Given the description of an element on the screen output the (x, y) to click on. 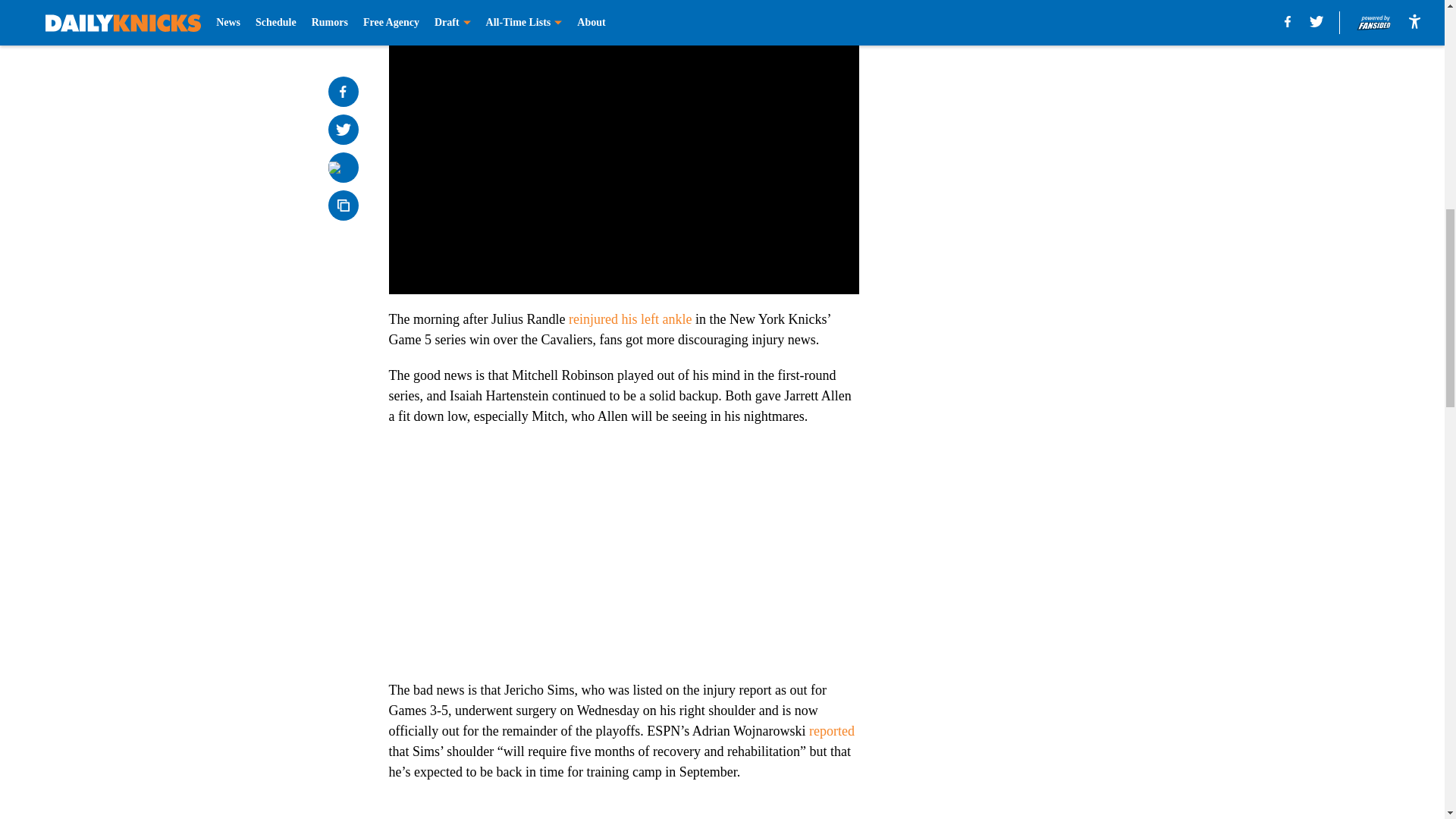
3rd party ad content (1047, 125)
reinjured his left ankle (630, 319)
reported (831, 730)
3rd party ad content (1047, 344)
